Given the description of an element on the screen output the (x, y) to click on. 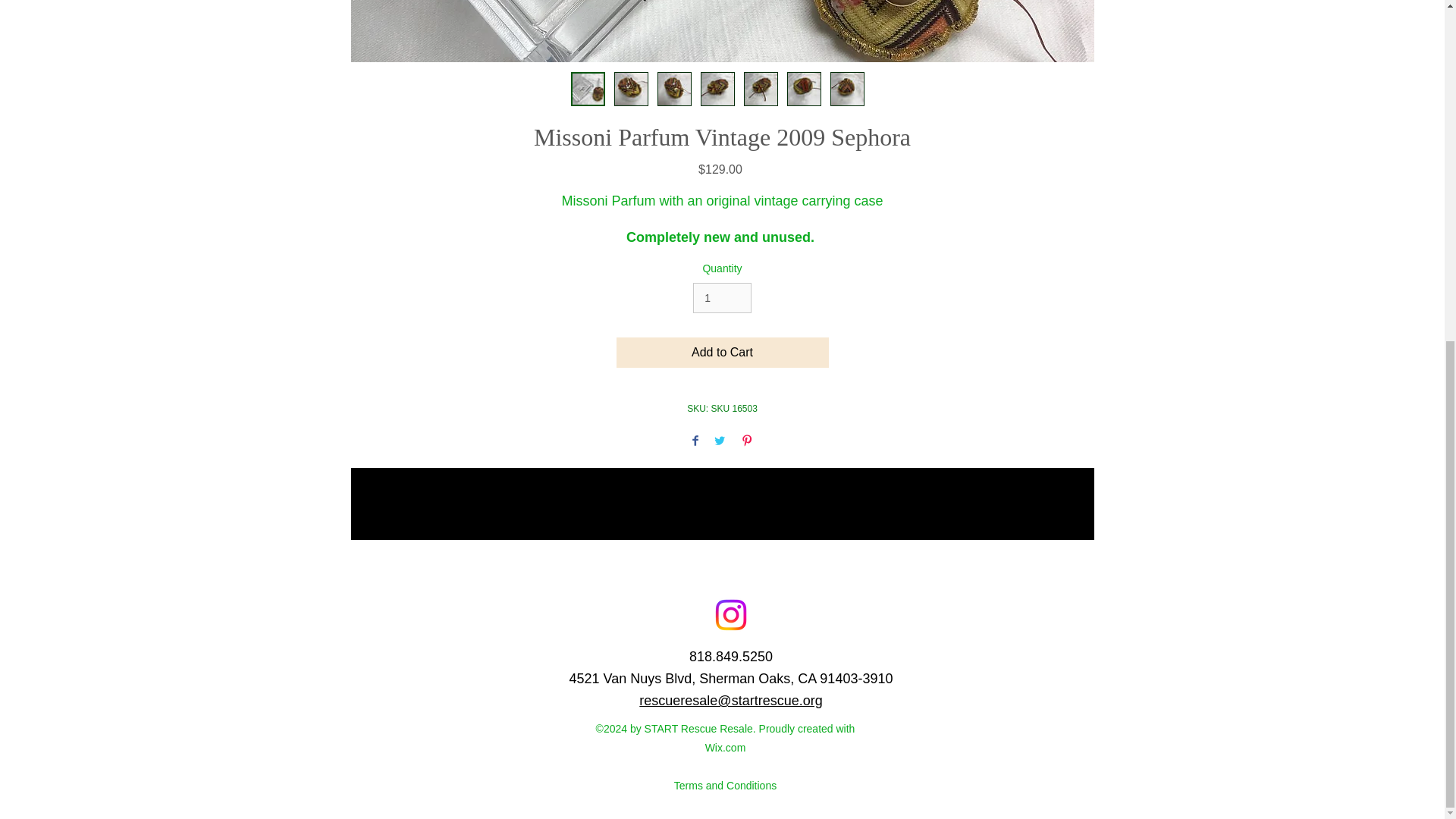
Add to Cart (721, 352)
1 (722, 297)
